Given the description of an element on the screen output the (x, y) to click on. 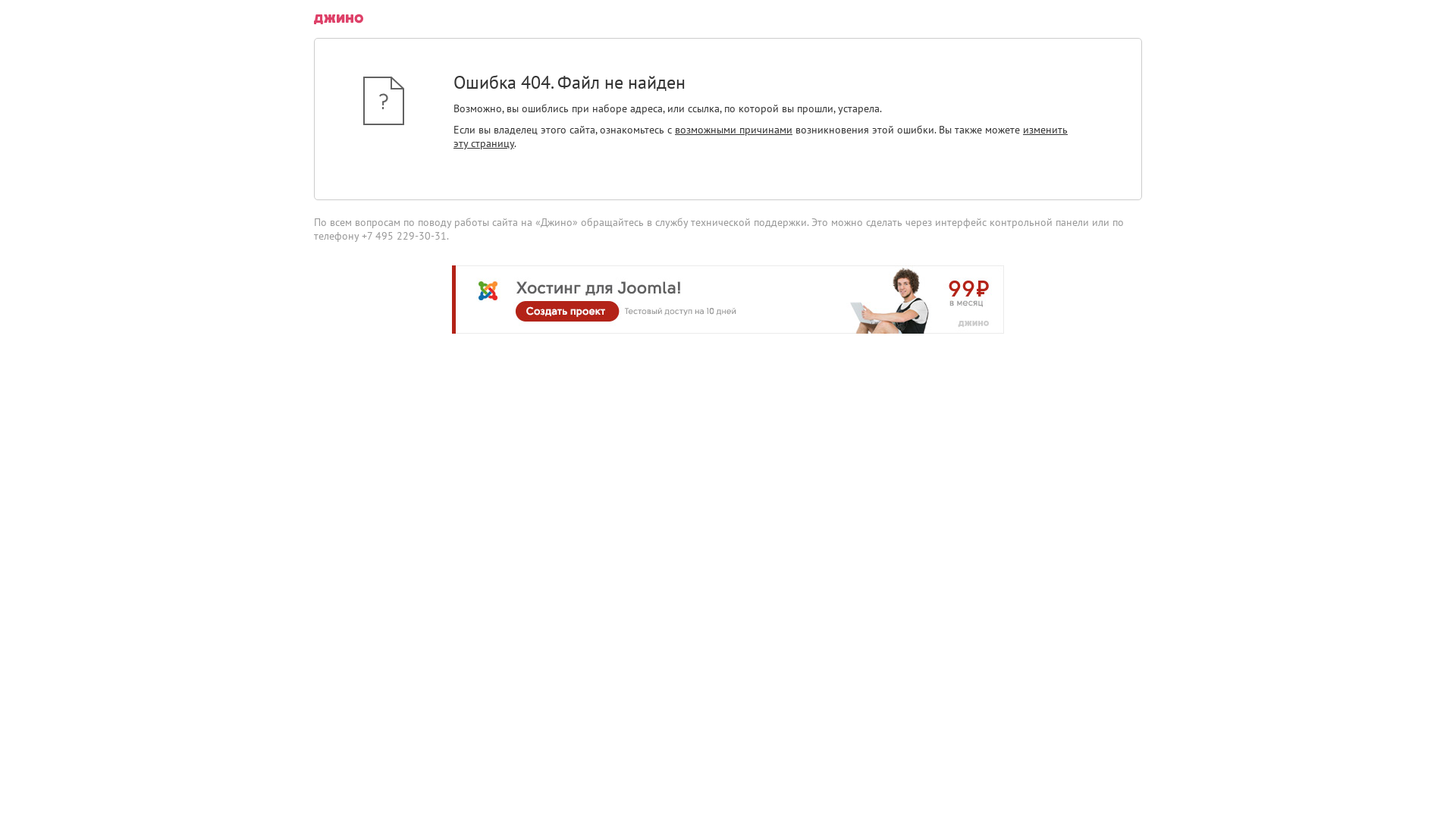
+7 495 229-30-31 Element type: text (403, 235)
